Given the description of an element on the screen output the (x, y) to click on. 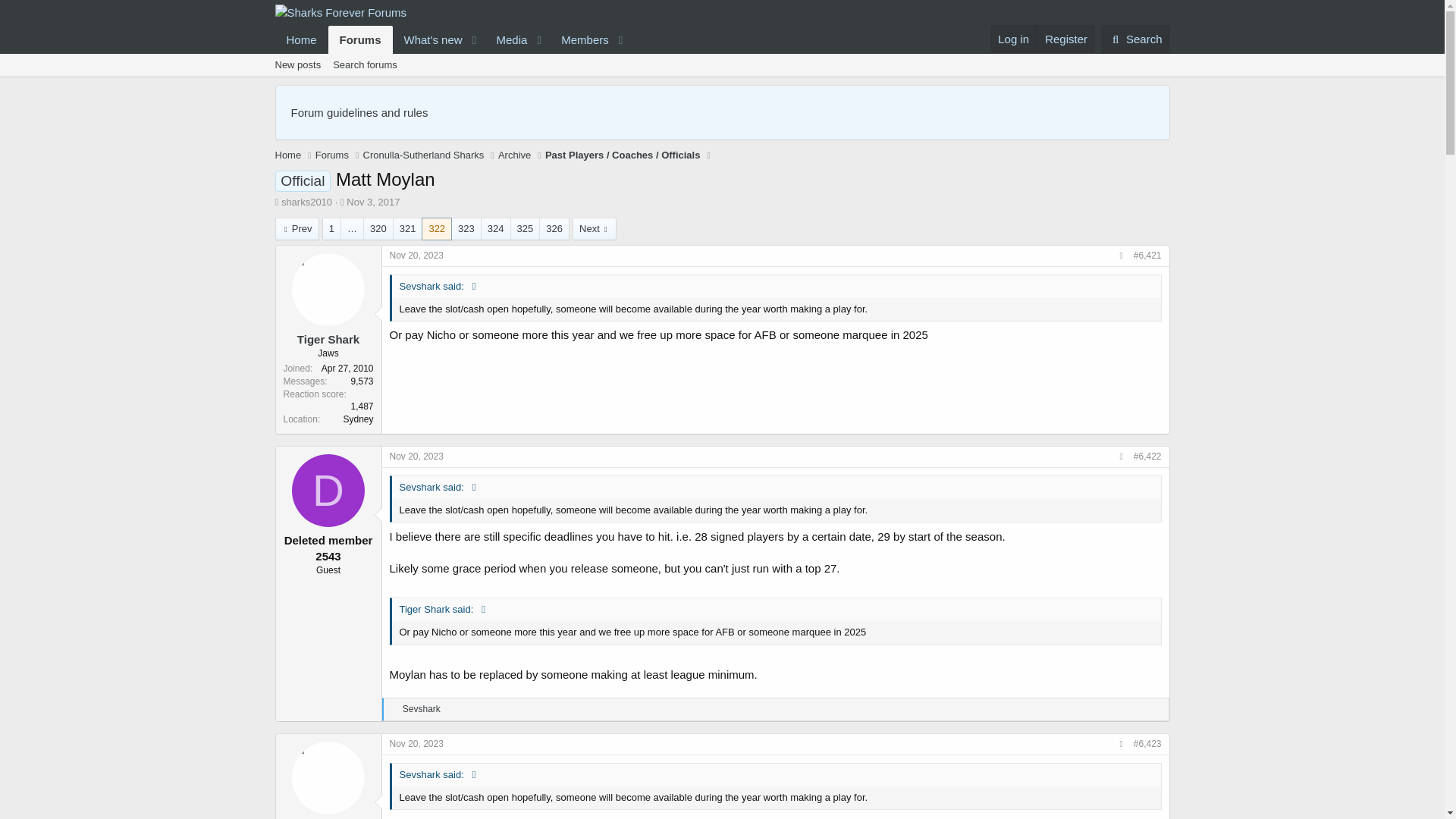
Home (288, 155)
Deleted member 2543 (720, 65)
Register (328, 490)
Home (1065, 39)
Cronulla-Sutherland Sharks (301, 39)
Forums (423, 155)
Nov 20, 2023 at 7:32 PM (361, 39)
New posts (417, 255)
Search (296, 65)
